Given the description of an element on the screen output the (x, y) to click on. 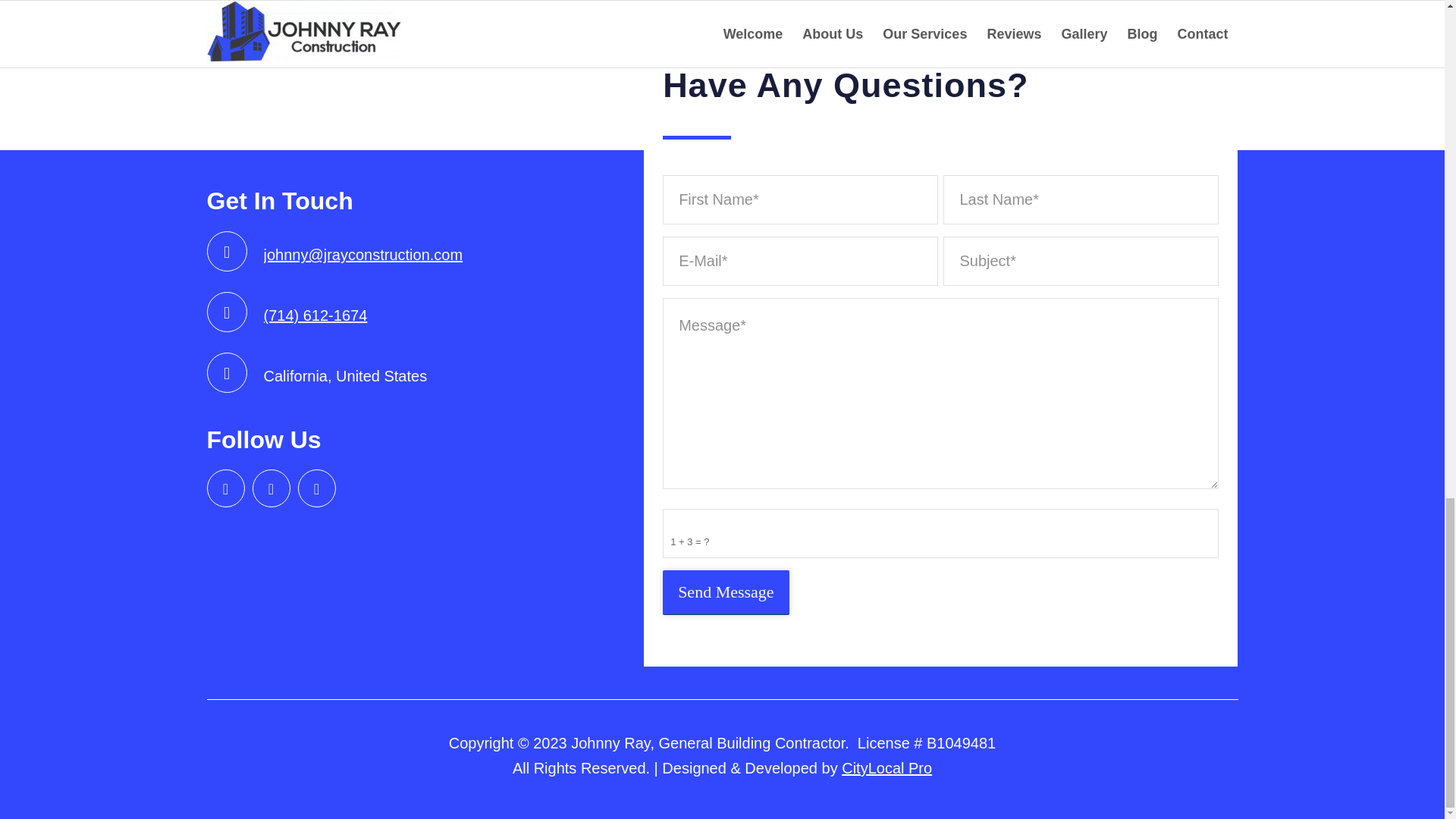
Send Message (725, 592)
